Given the description of an element on the screen output the (x, y) to click on. 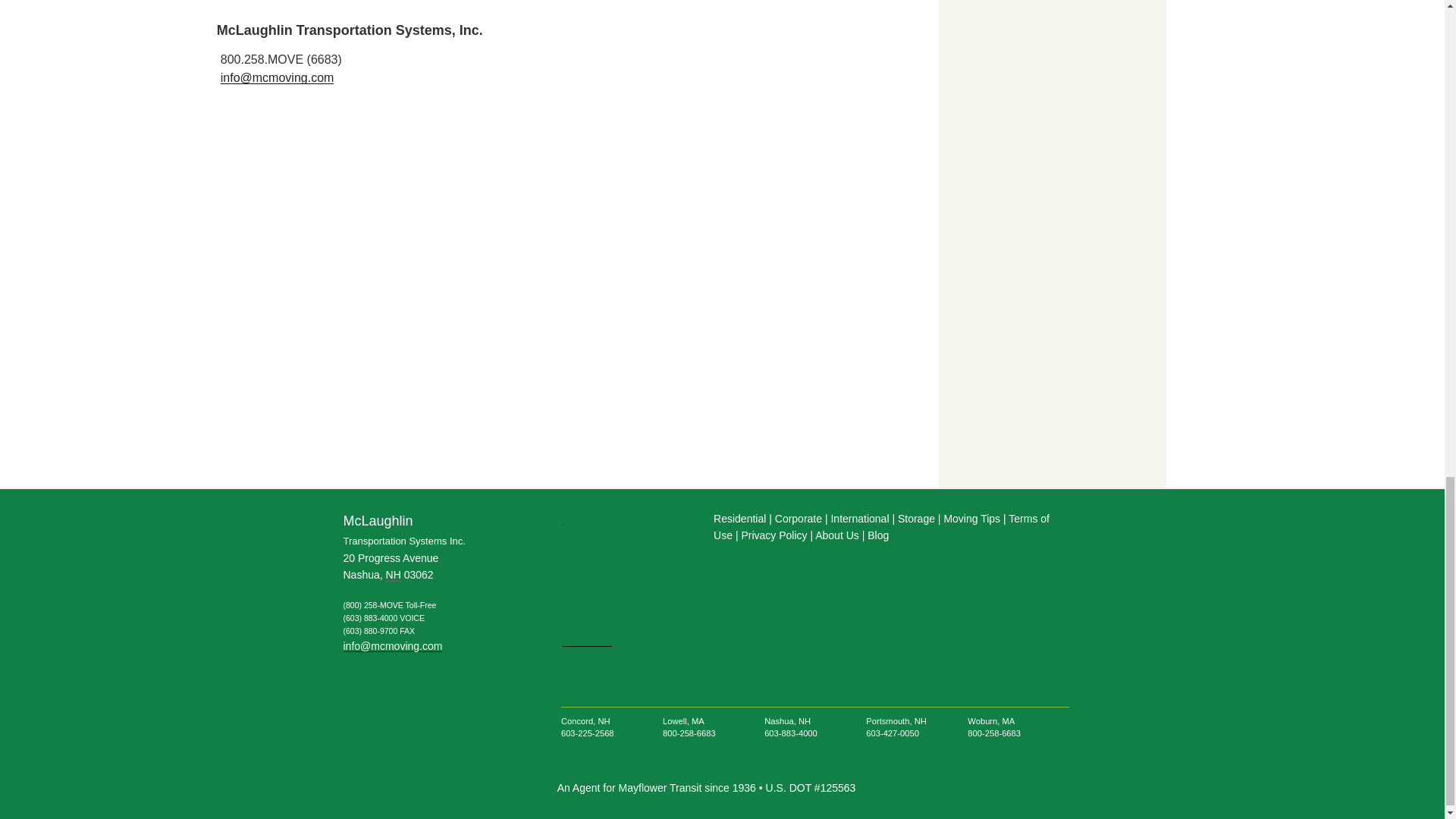
New Hampshire (393, 574)
Storage (916, 518)
Corporate (799, 518)
Residential (739, 518)
International (858, 518)
